Given the description of an element on the screen output the (x, y) to click on. 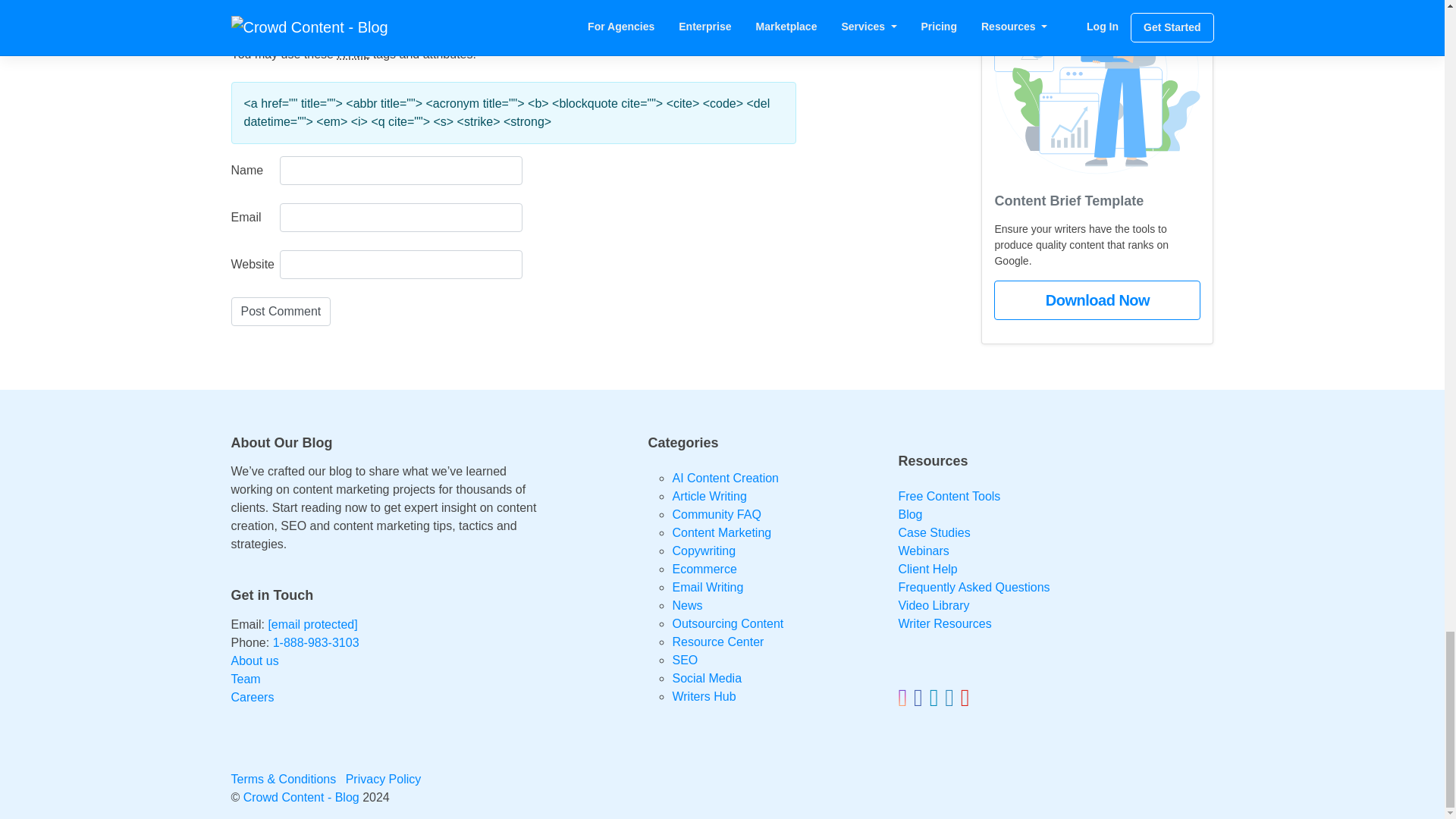
Post Comment (280, 311)
